Given the description of an element on the screen output the (x, y) to click on. 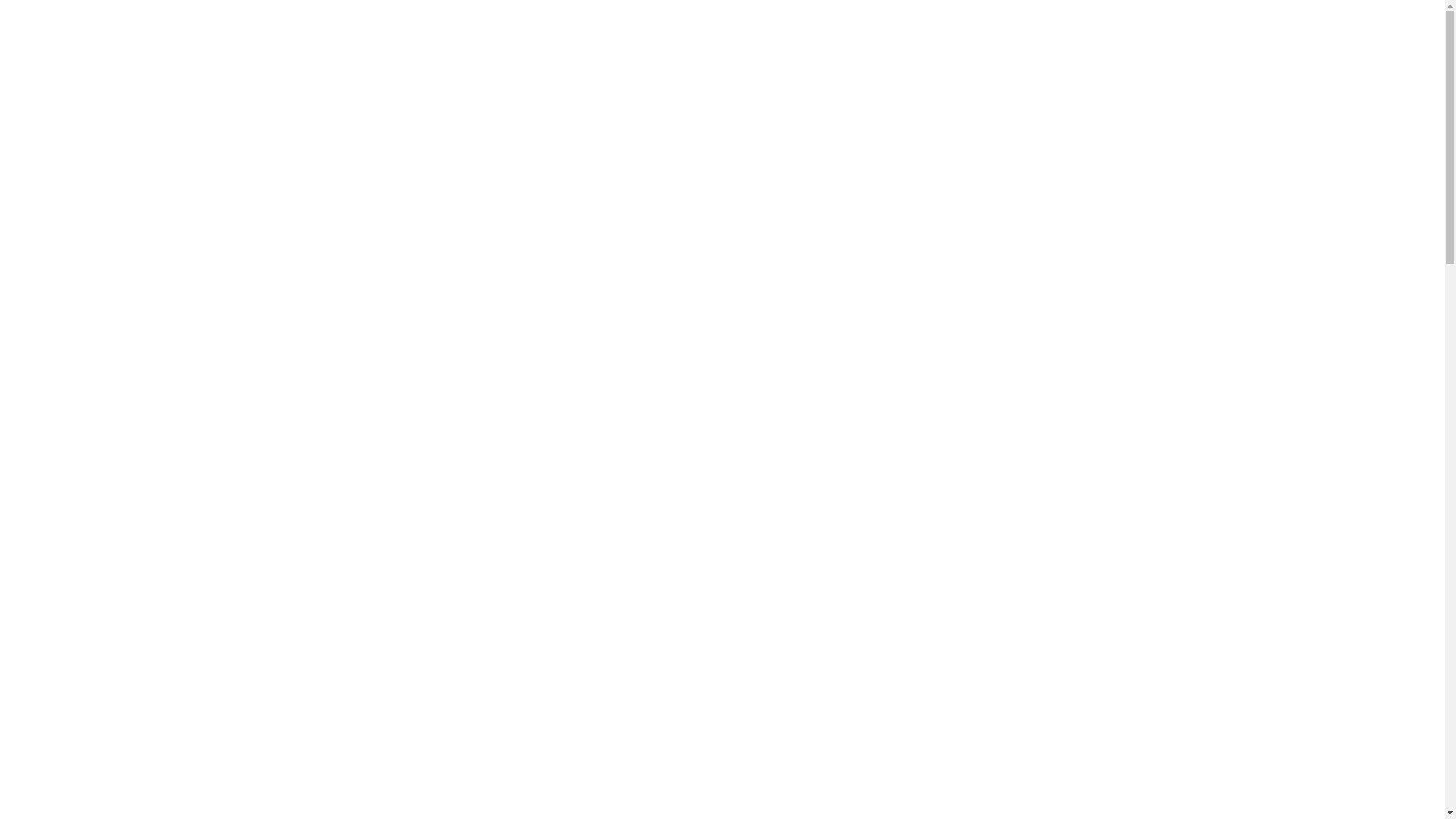
Photography Element type: text (678, 41)
Google Business-View Element type: text (801, 41)
Contact Element type: text (1117, 41)
Home Element type: text (598, 41)
Website creation Element type: text (1018, 41)
Matteport Element type: text (915, 41)
